Given the description of an element on the screen output the (x, y) to click on. 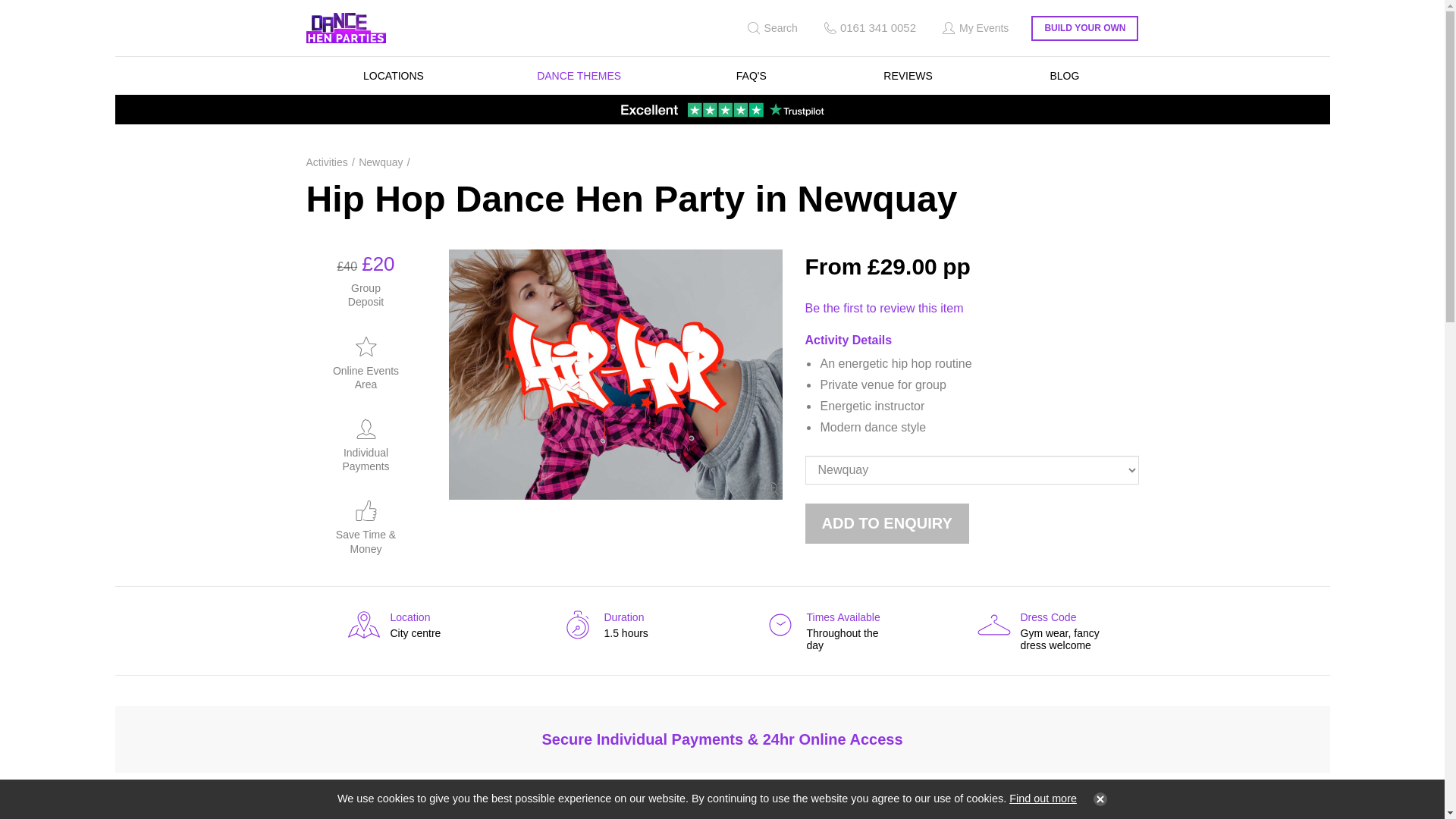
REVIEWS (908, 75)
Add to enquiry (887, 523)
Search (770, 28)
My Events (614, 624)
DANCE THEMES (974, 28)
Newquay (578, 75)
Activities (1043, 630)
Find the event you are looking for (384, 162)
